Given the description of an element on the screen output the (x, y) to click on. 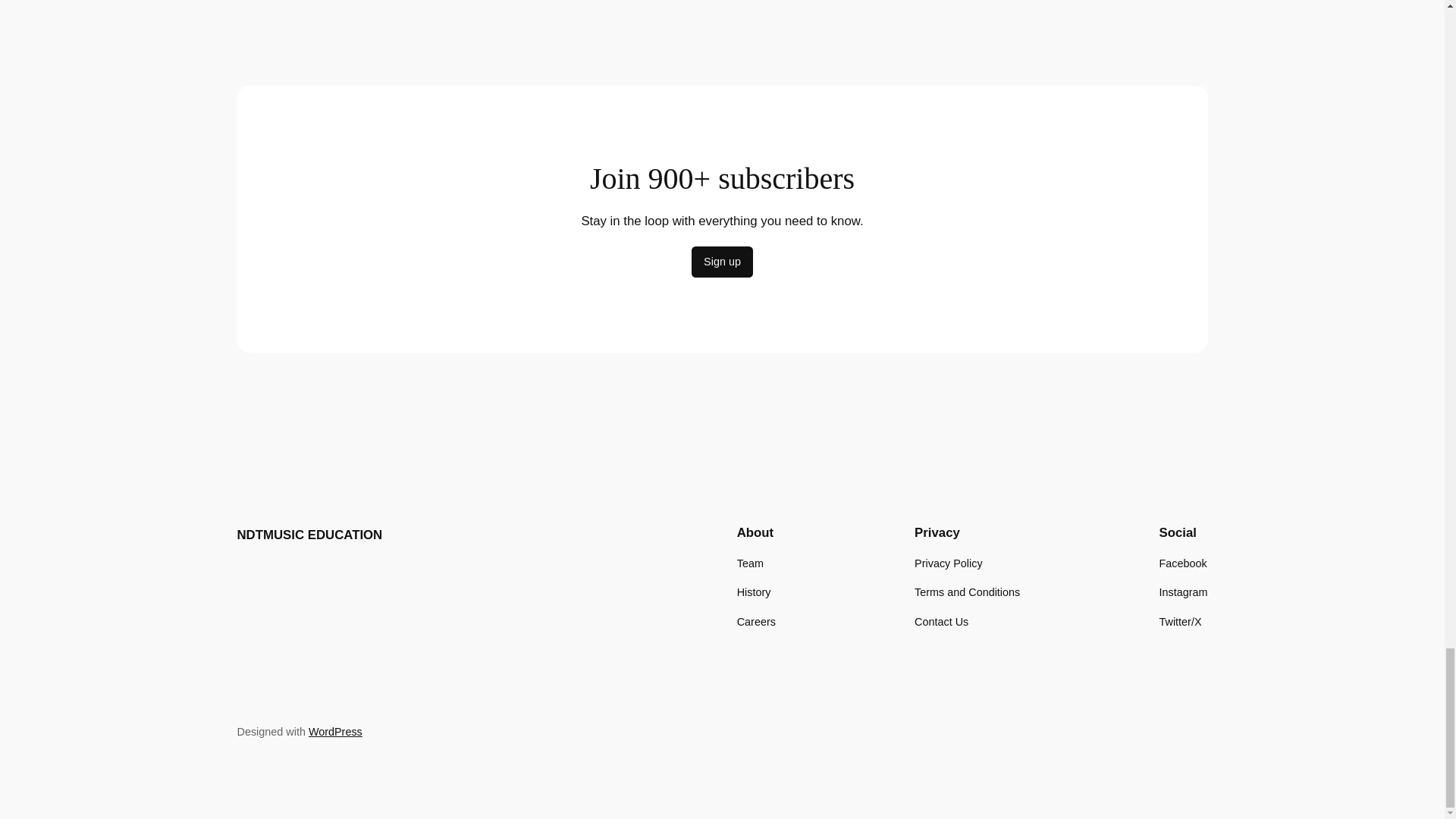
Team (749, 563)
Contact Us (941, 620)
Facebook (1182, 563)
WordPress (335, 731)
Terms and Conditions (967, 591)
Careers (756, 620)
Privacy Policy (948, 563)
NDTMUSIC EDUCATION (308, 534)
Instagram (1182, 591)
History (753, 591)
Sign up (721, 262)
